Given the description of an element on the screen output the (x, y) to click on. 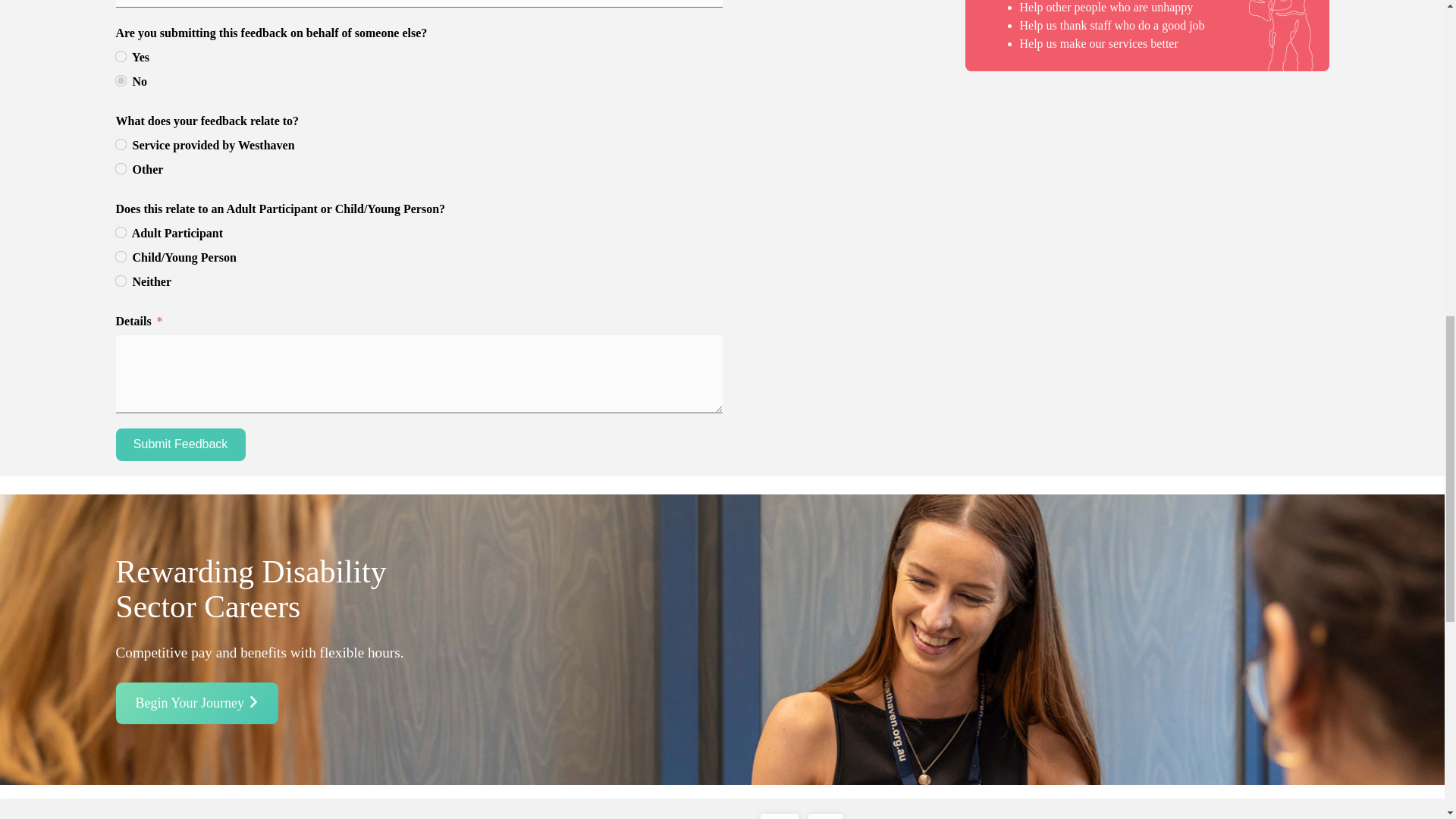
Other (119, 167)
yes (119, 55)
no (119, 80)
Neither (119, 280)
Service provided by Westhaven (119, 143)
Adult Participant (119, 231)
